Given the description of an element on the screen output the (x, y) to click on. 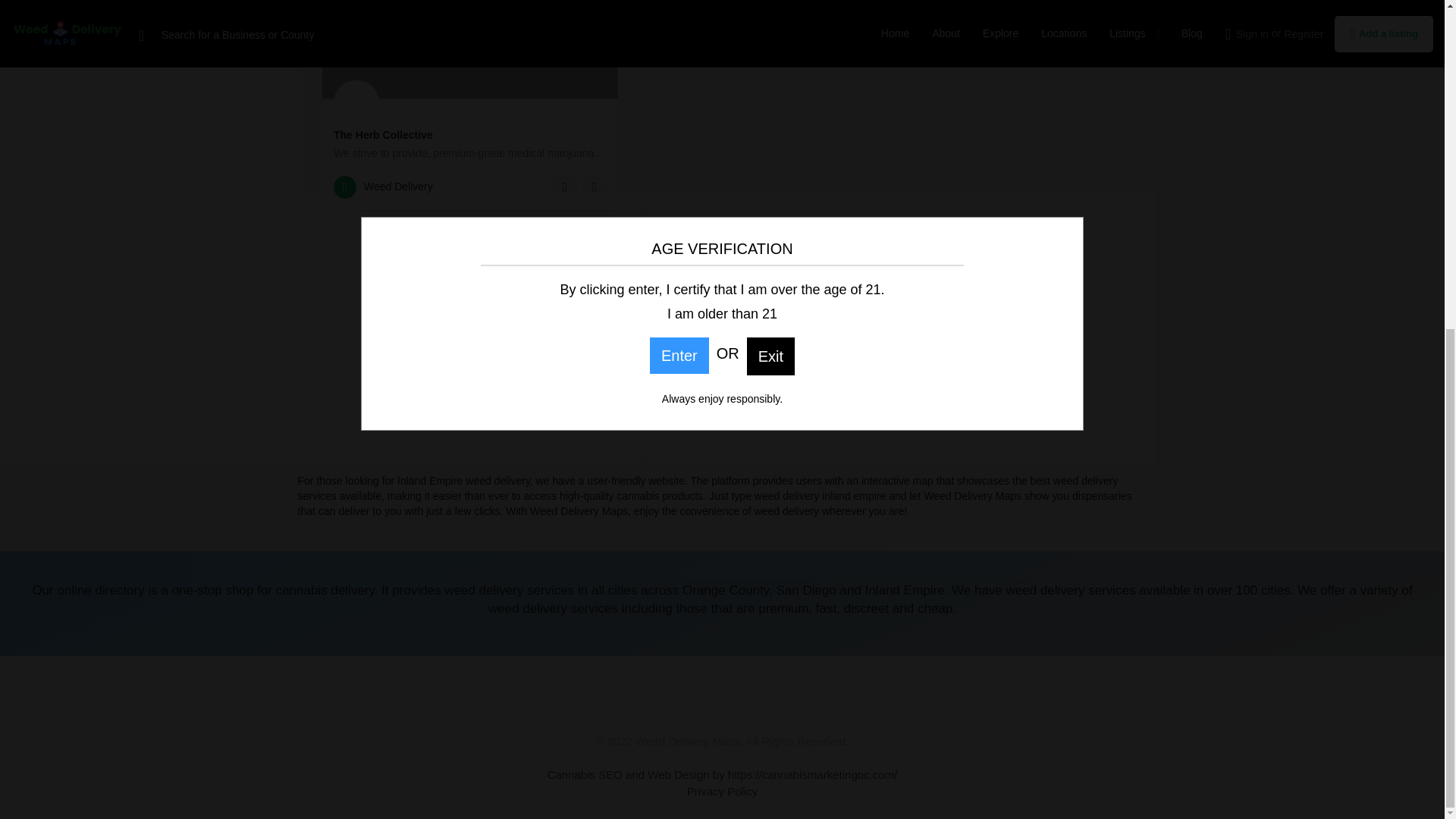
Weed Delivery (382, 187)
